Given the description of an element on the screen output the (x, y) to click on. 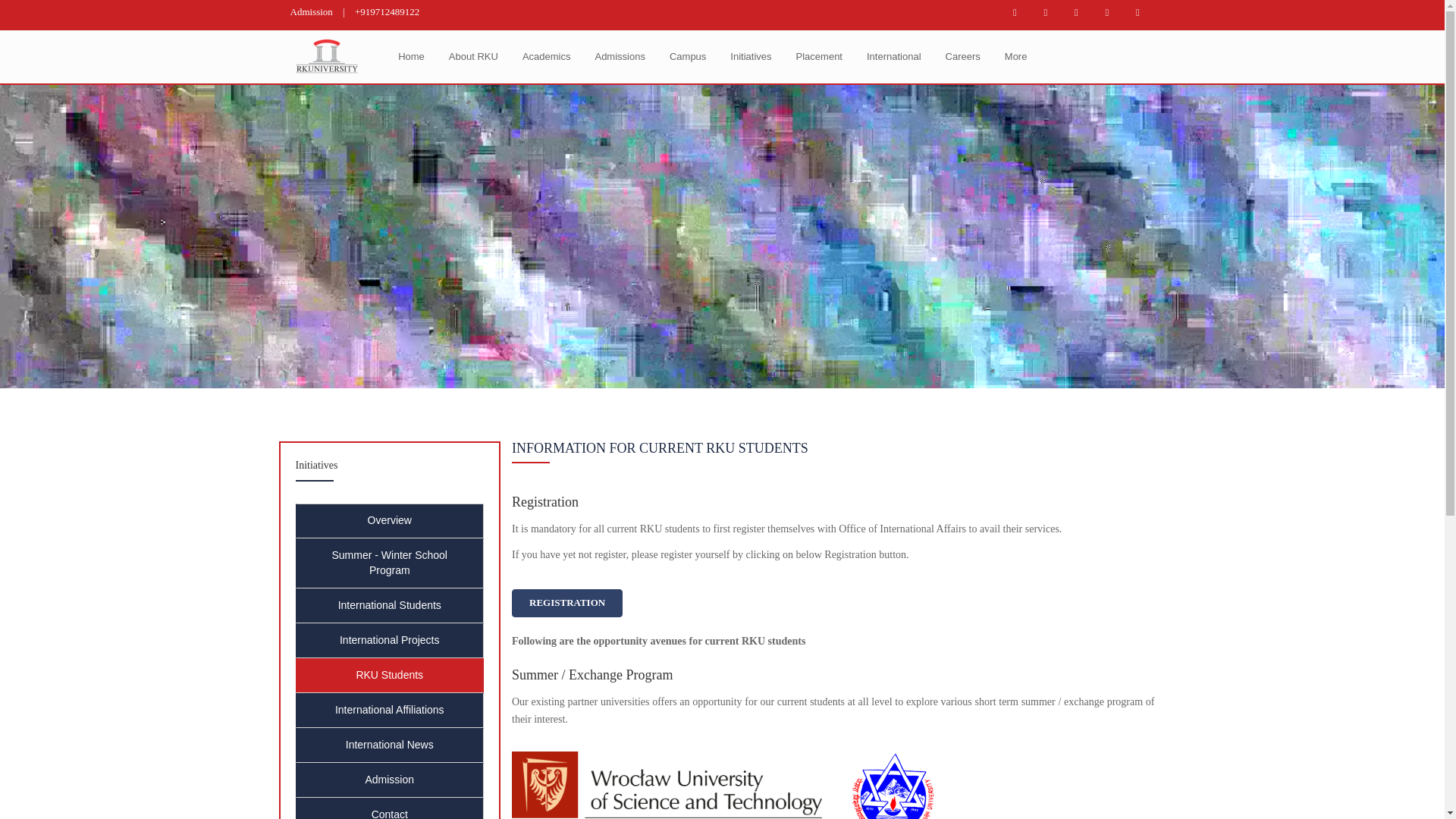
About RKU (473, 57)
Home (410, 57)
Admission (310, 11)
Academics (547, 57)
